Given the description of an element on the screen output the (x, y) to click on. 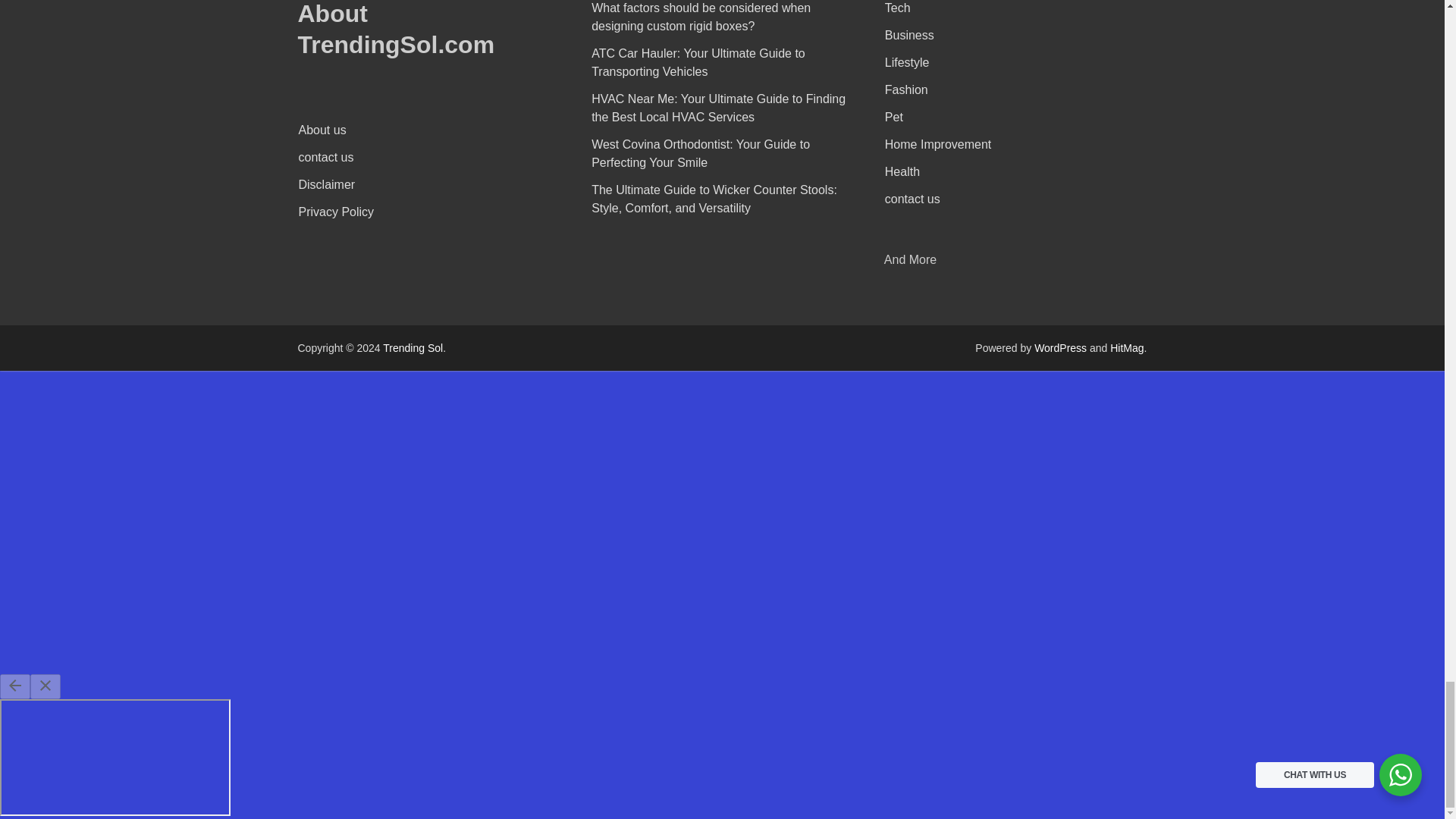
Trending Sol (412, 347)
WordPress (1059, 347)
HitMag WordPress Theme (1125, 347)
